Given the description of an element on the screen output the (x, y) to click on. 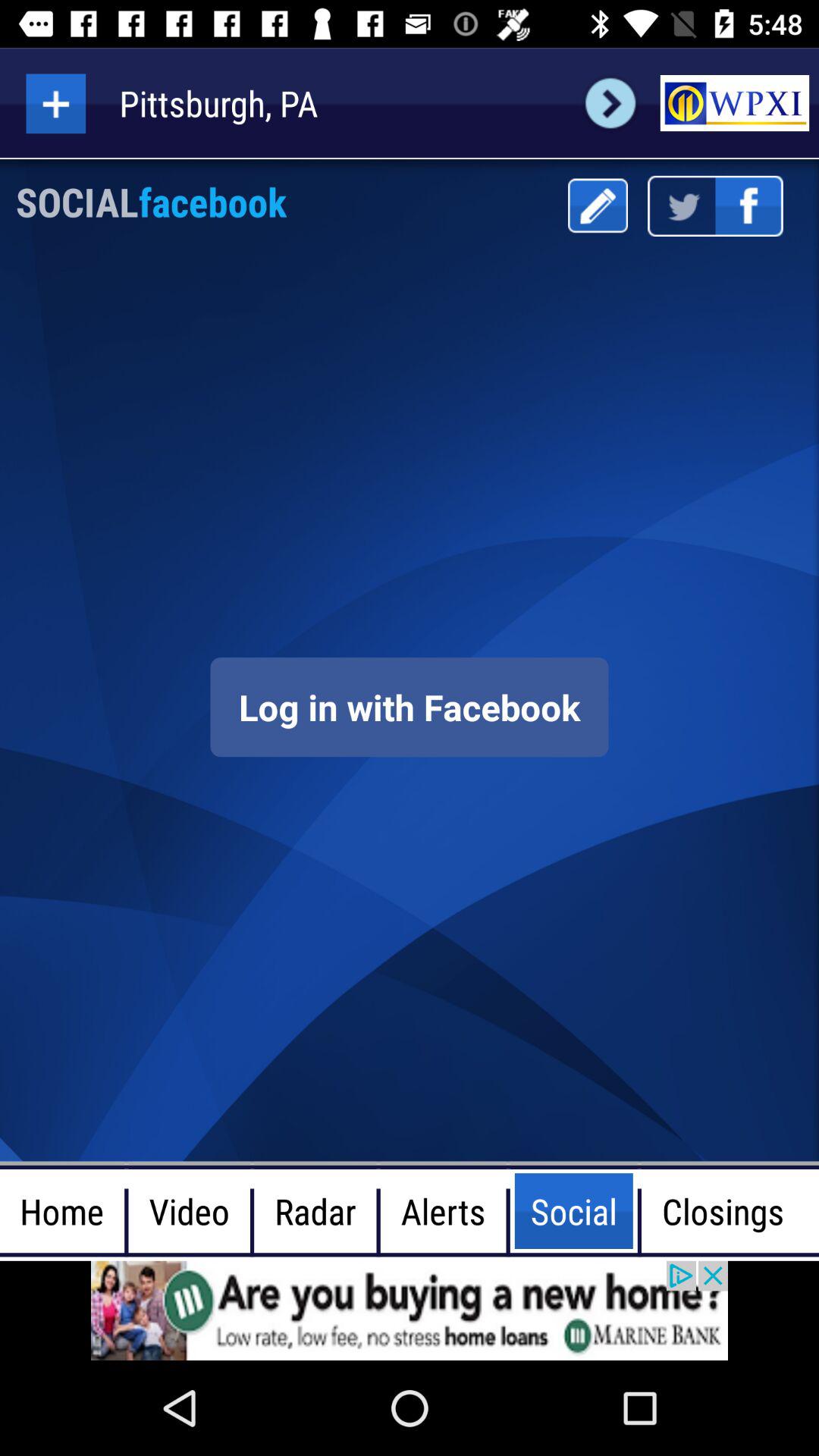
location add option (55, 103)
